Given the description of an element on the screen output the (x, y) to click on. 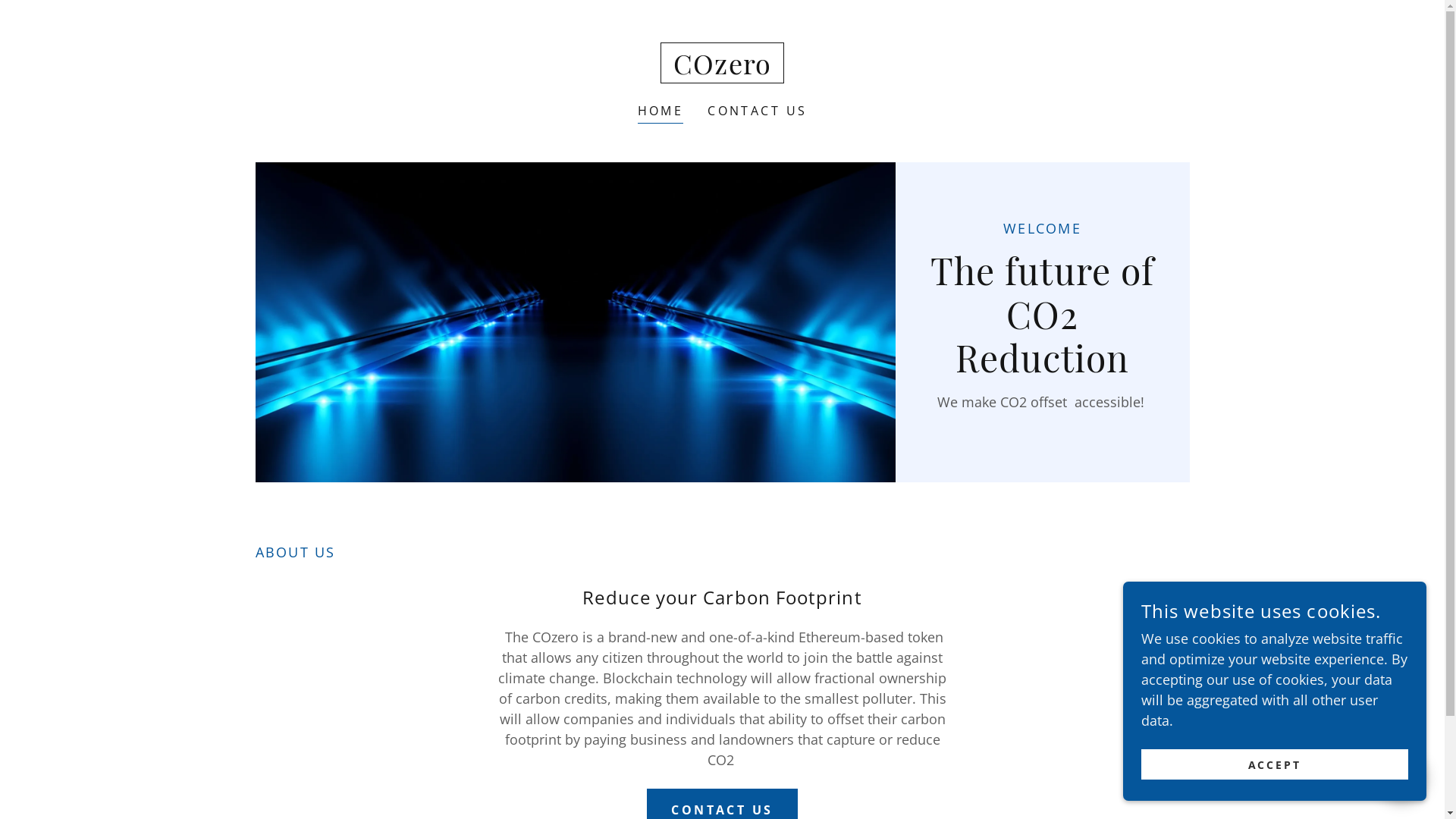
HOME Element type: text (660, 112)
COzero Element type: text (722, 68)
ACCEPT Element type: text (1274, 764)
CONTACT US Element type: text (756, 110)
